Given the description of an element on the screen output the (x, y) to click on. 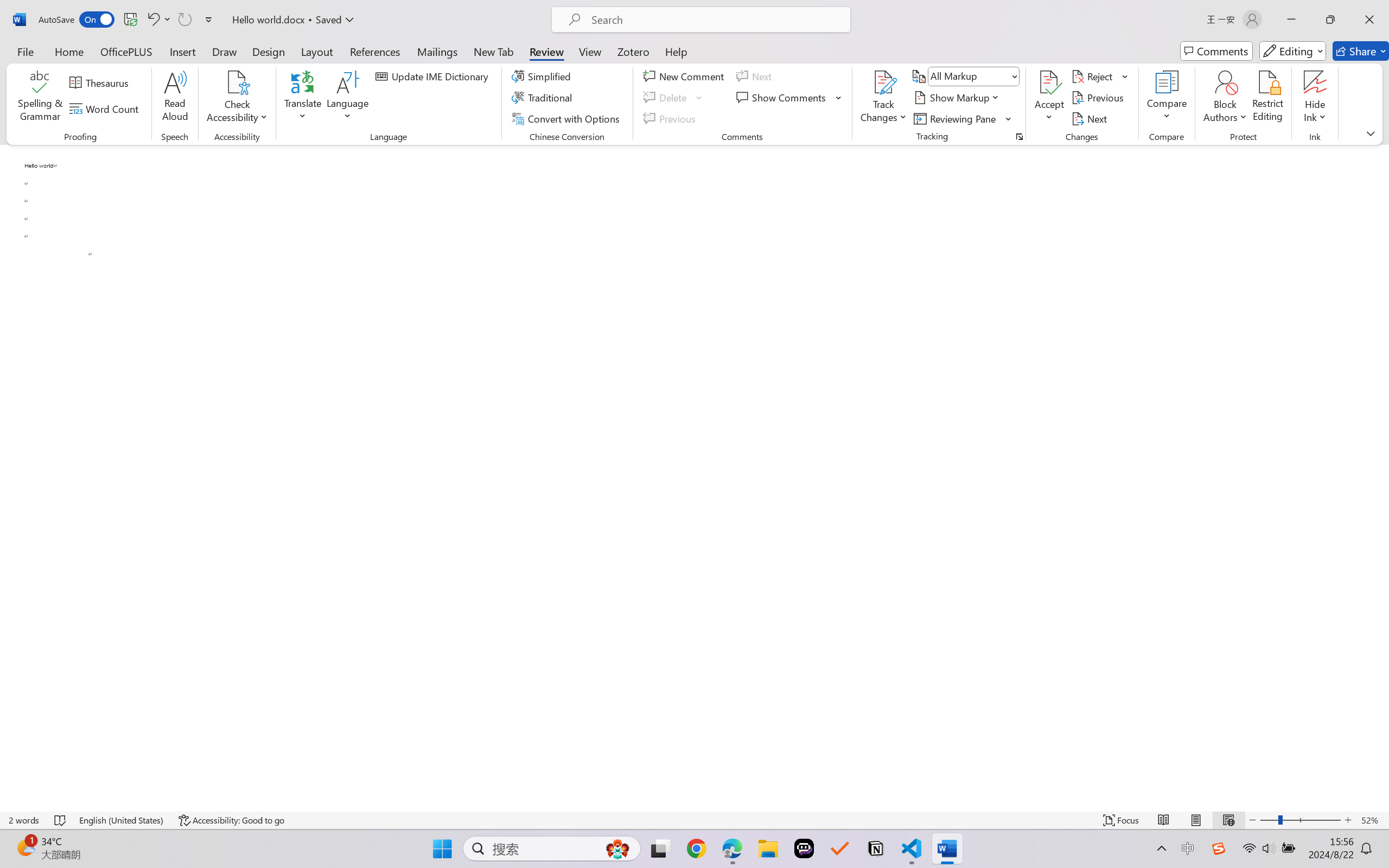
Word Count (105, 108)
Track Changes (883, 81)
Language English (United States) (121, 819)
Delete (666, 97)
Reject and Move to Next (1093, 75)
References (375, 51)
Can't Repeat (184, 19)
Microsoft search (715, 19)
Layout (316, 51)
Delete (673, 97)
Save (130, 19)
Accessibility Checker Accessibility: Good to go (231, 819)
Track Changes (883, 97)
Help (675, 51)
